Given the description of an element on the screen output the (x, y) to click on. 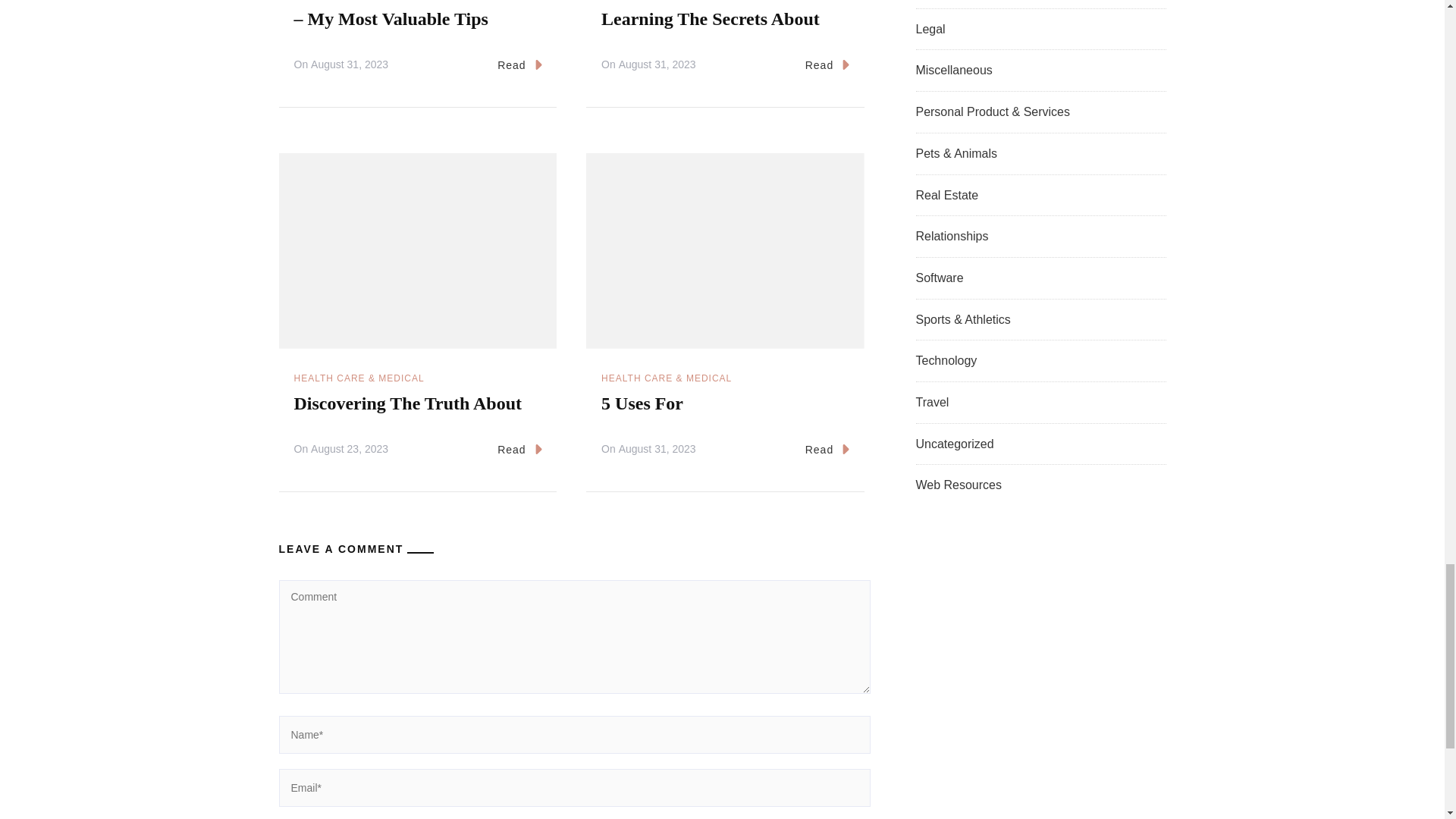
Read (519, 65)
August 31, 2023 (656, 449)
August 31, 2023 (349, 65)
Learning The Secrets About (710, 18)
Discovering The Truth About (408, 403)
August 31, 2023 (656, 65)
Read (826, 65)
Read (826, 449)
Read (519, 449)
5 Uses For (641, 403)
